Given the description of an element on the screen output the (x, y) to click on. 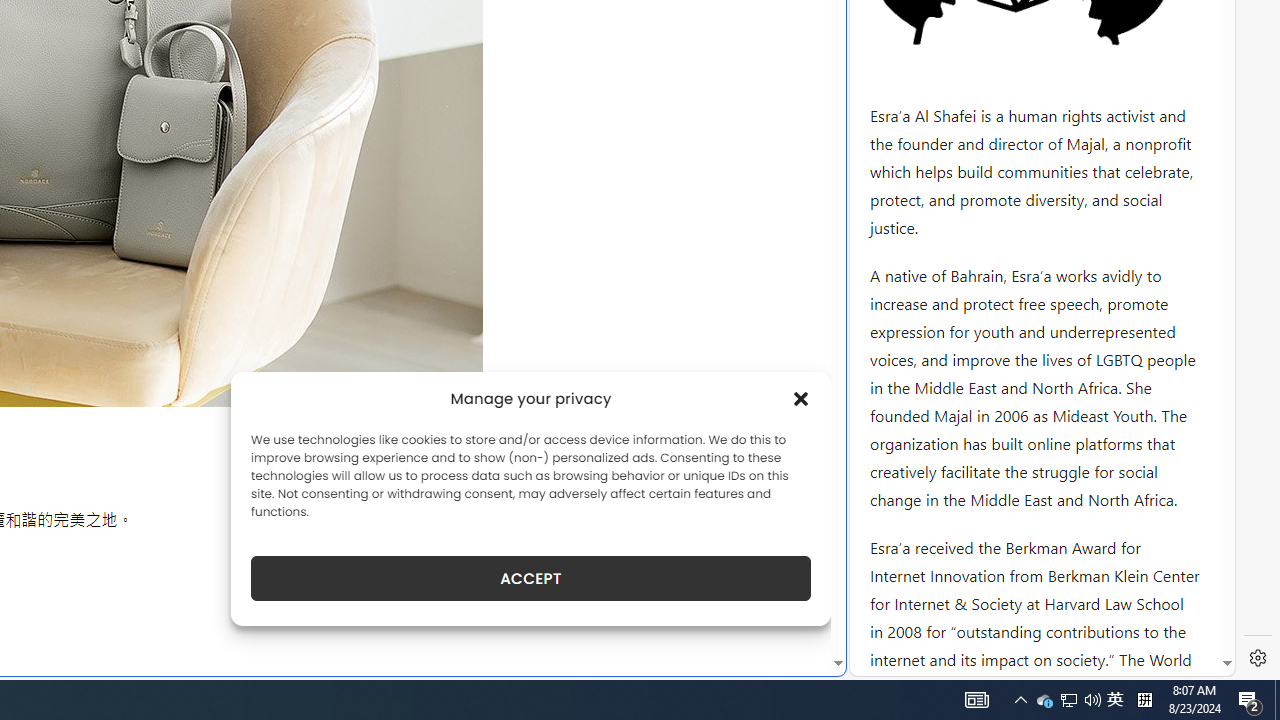
ACCEPT (530, 578)
MSN (687, 223)
Settings (1258, 658)
Global web icon (888, 663)
